Given the description of an element on the screen output the (x, y) to click on. 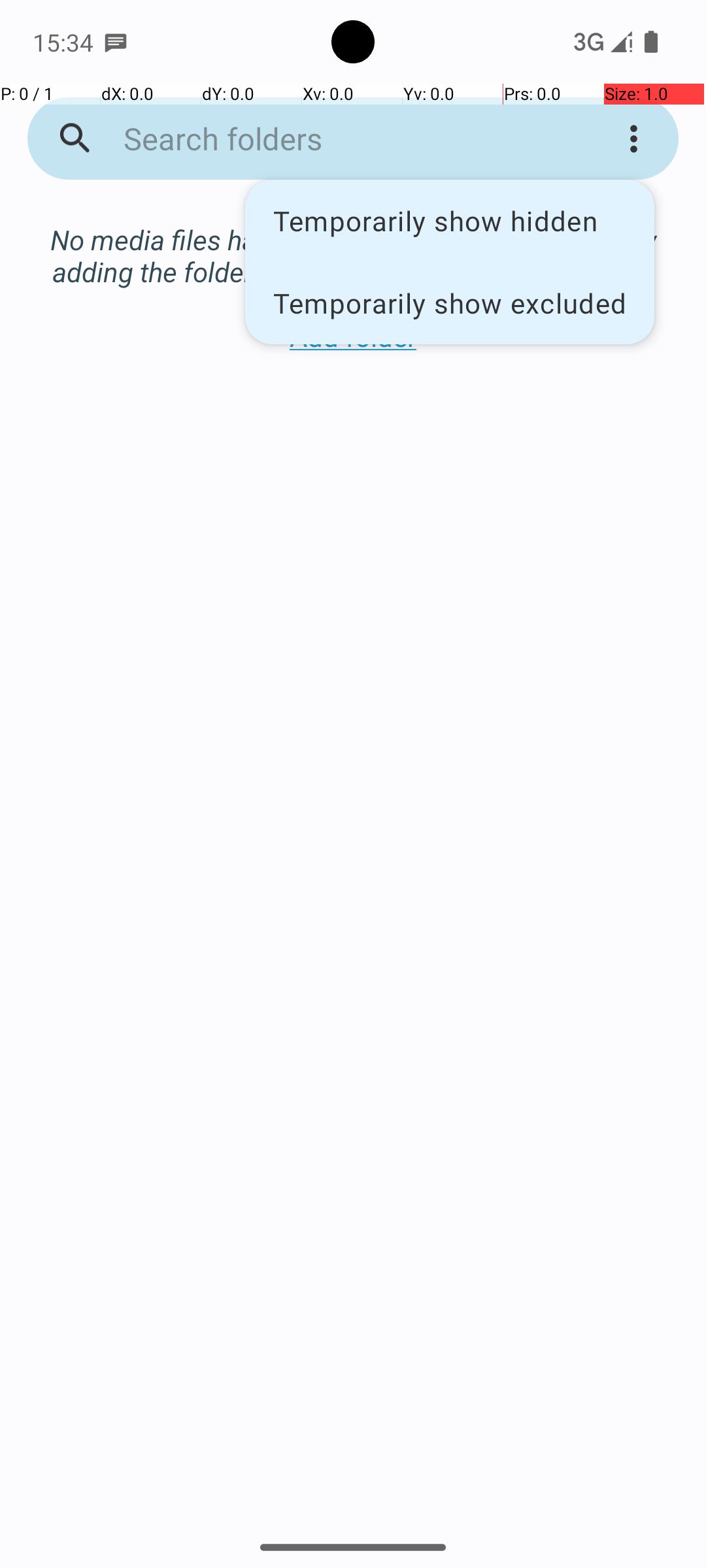
Temporarily show hidden Element type: android.widget.TextView (449, 220)
Temporarily show excluded Element type: android.widget.TextView (449, 302)
